Given the description of an element on the screen output the (x, y) to click on. 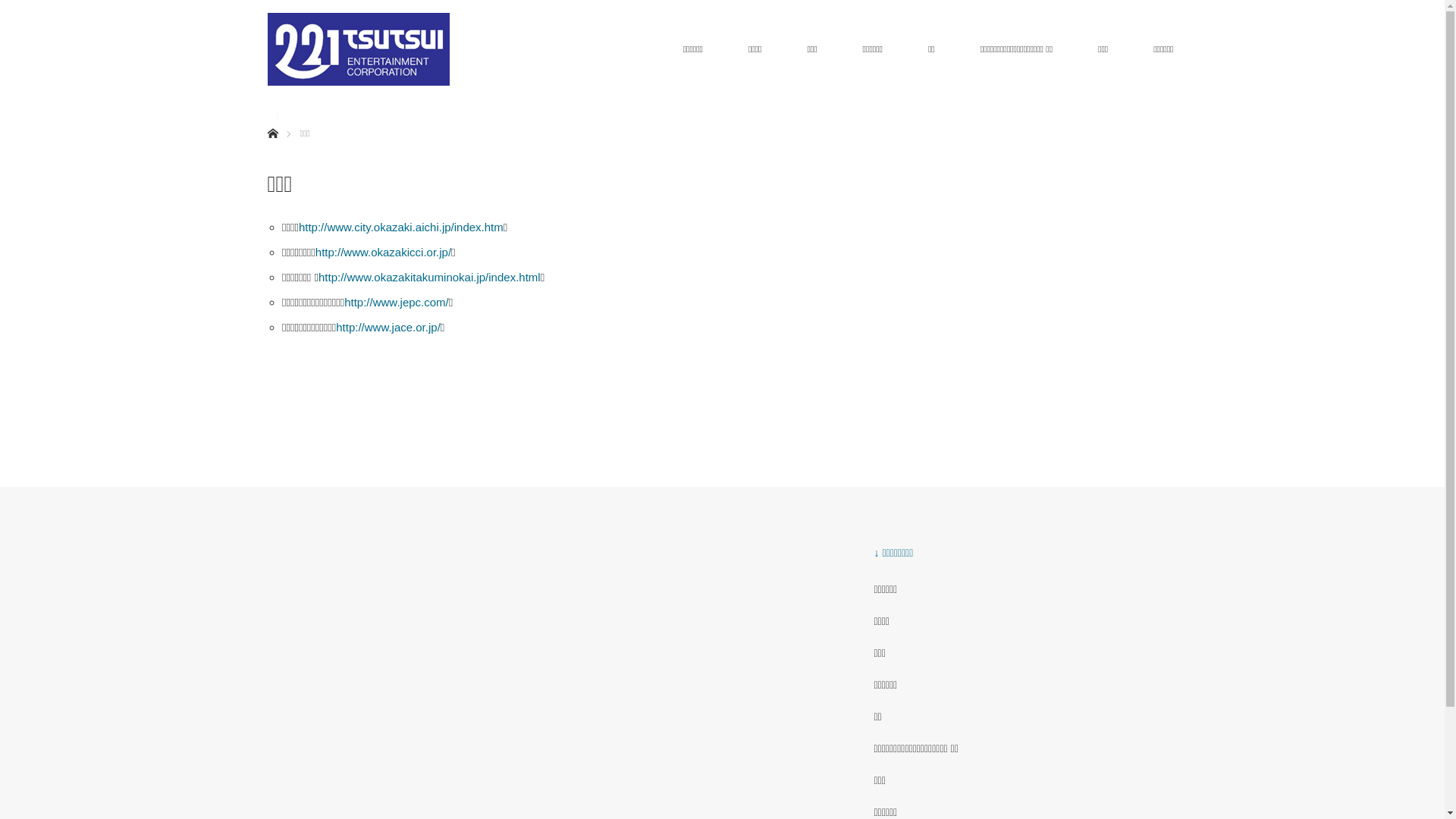
http://www.okazakitakuminokai.jp/index.html Element type: text (429, 276)
http://www.city.okazaki.aichi.jp/index.htm Element type: text (400, 226)
http://www.jepc.com/ Element type: text (396, 301)
http://www.okazakicci.or.jp/ Element type: text (383, 251)
http://www.jace.or.jp/ Element type: text (387, 326)
